Given the description of an element on the screen output the (x, y) to click on. 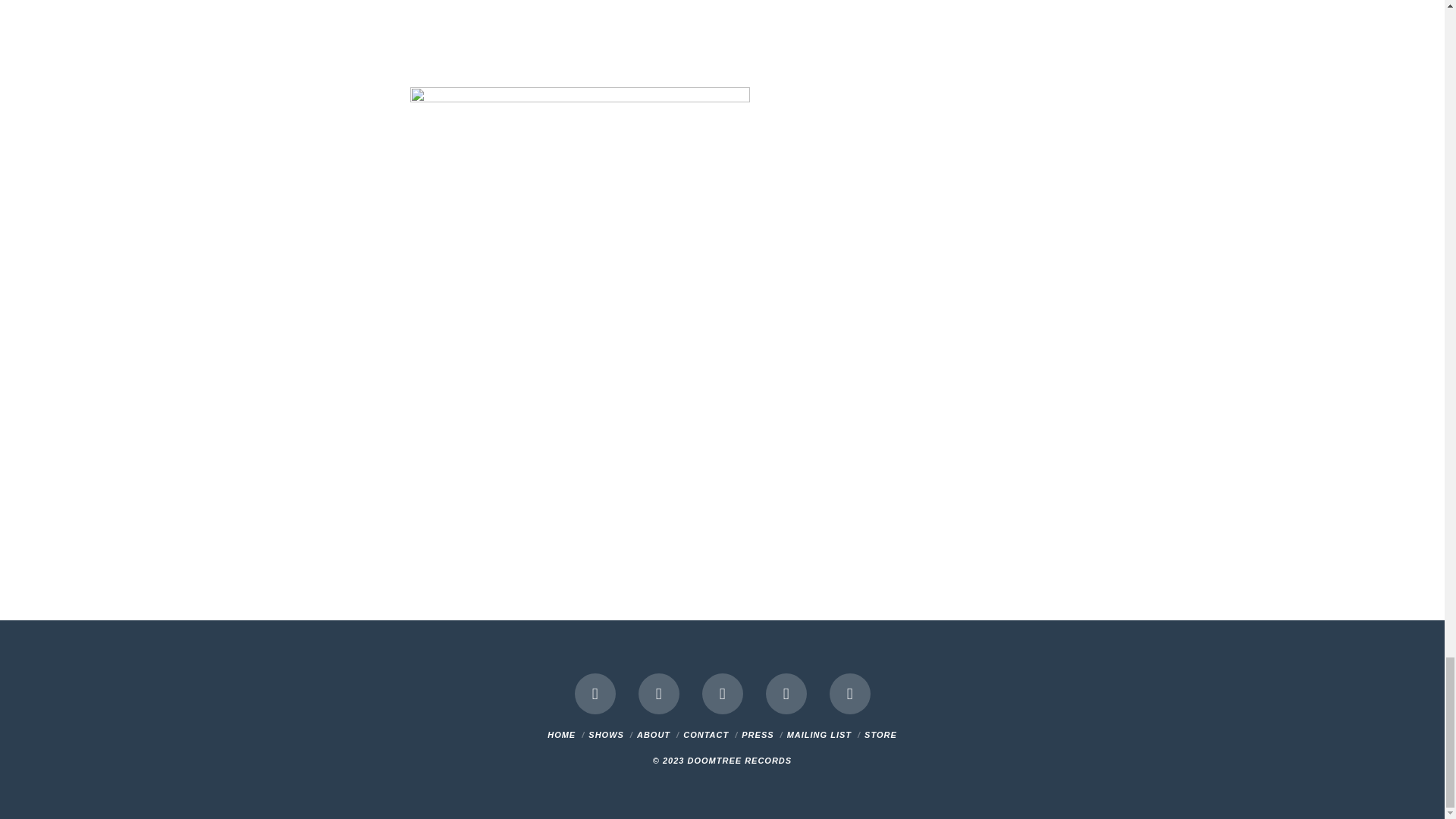
SoundCloud (849, 693)
Instagram (785, 693)
Facebook (595, 693)
Twitter (659, 693)
YouTube (721, 693)
